Given the description of an element on the screen output the (x, y) to click on. 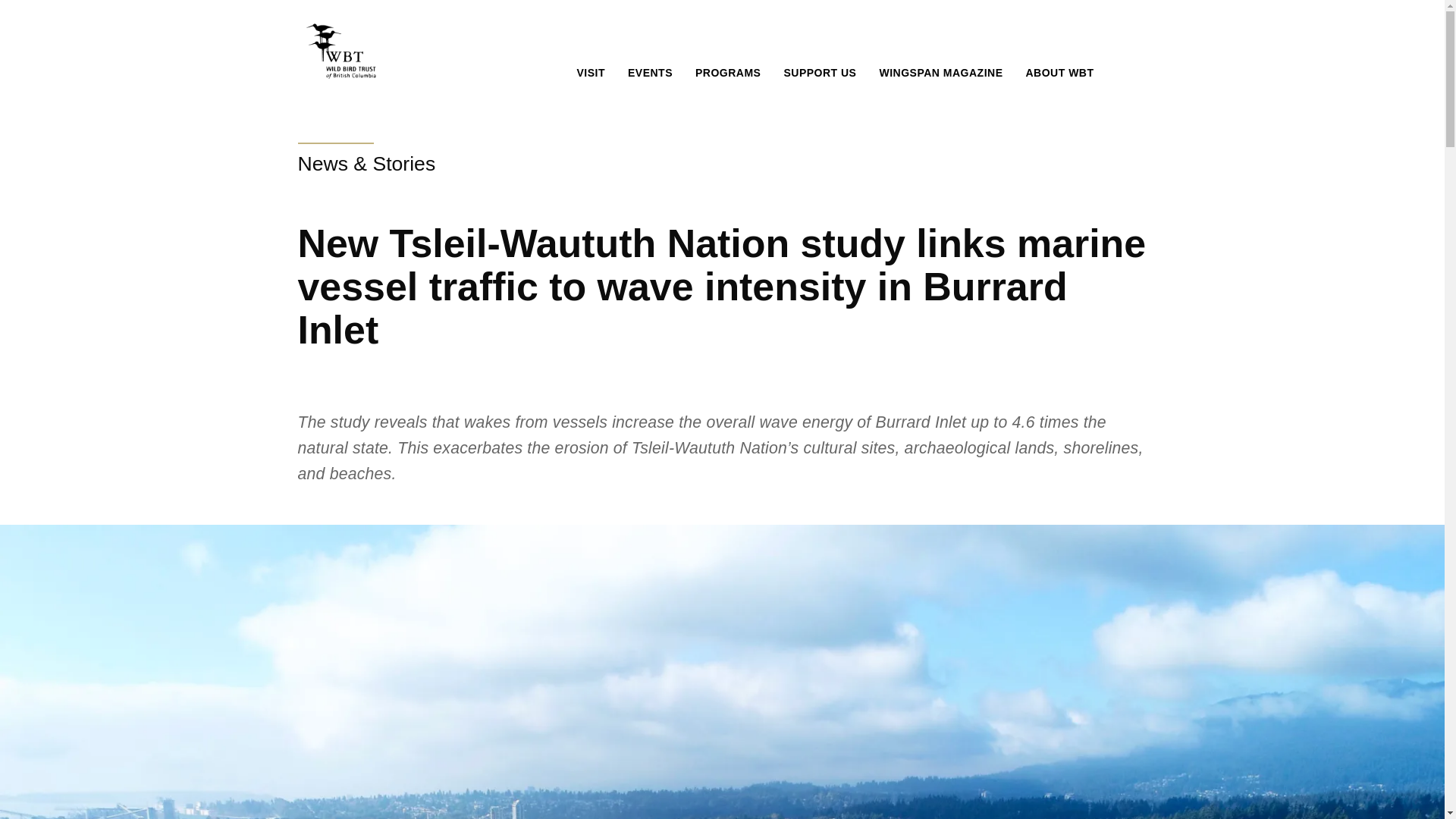
WINGSPAN MAGAZINE (943, 72)
VISIT (594, 72)
ABOUT WBT (1062, 72)
SUPPORT US (823, 72)
PROGRAMS (731, 72)
EVENTS (653, 72)
